Given the description of an element on the screen output the (x, y) to click on. 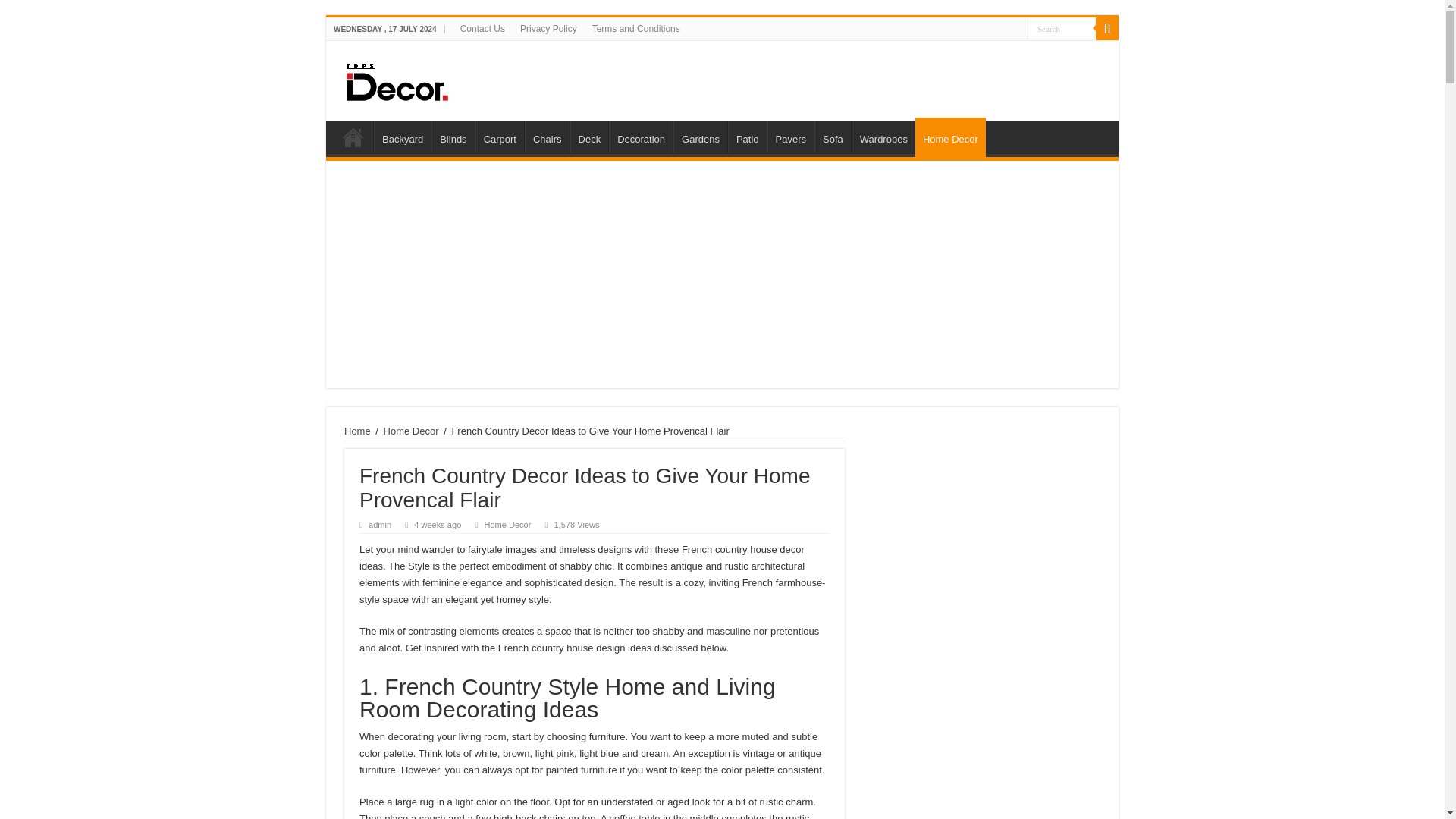
Patio (747, 137)
admin (379, 524)
Search (1061, 28)
Sofa (831, 137)
Search (1061, 28)
Wardrobes (883, 137)
Home (357, 430)
Chairs (546, 137)
Contact Us (482, 28)
Home (352, 137)
Gardens (699, 137)
Terms and Conditions (636, 28)
TopsDecor.com (583, 77)
Search (1061, 28)
Carport (500, 137)
